Given the description of an element on the screen output the (x, y) to click on. 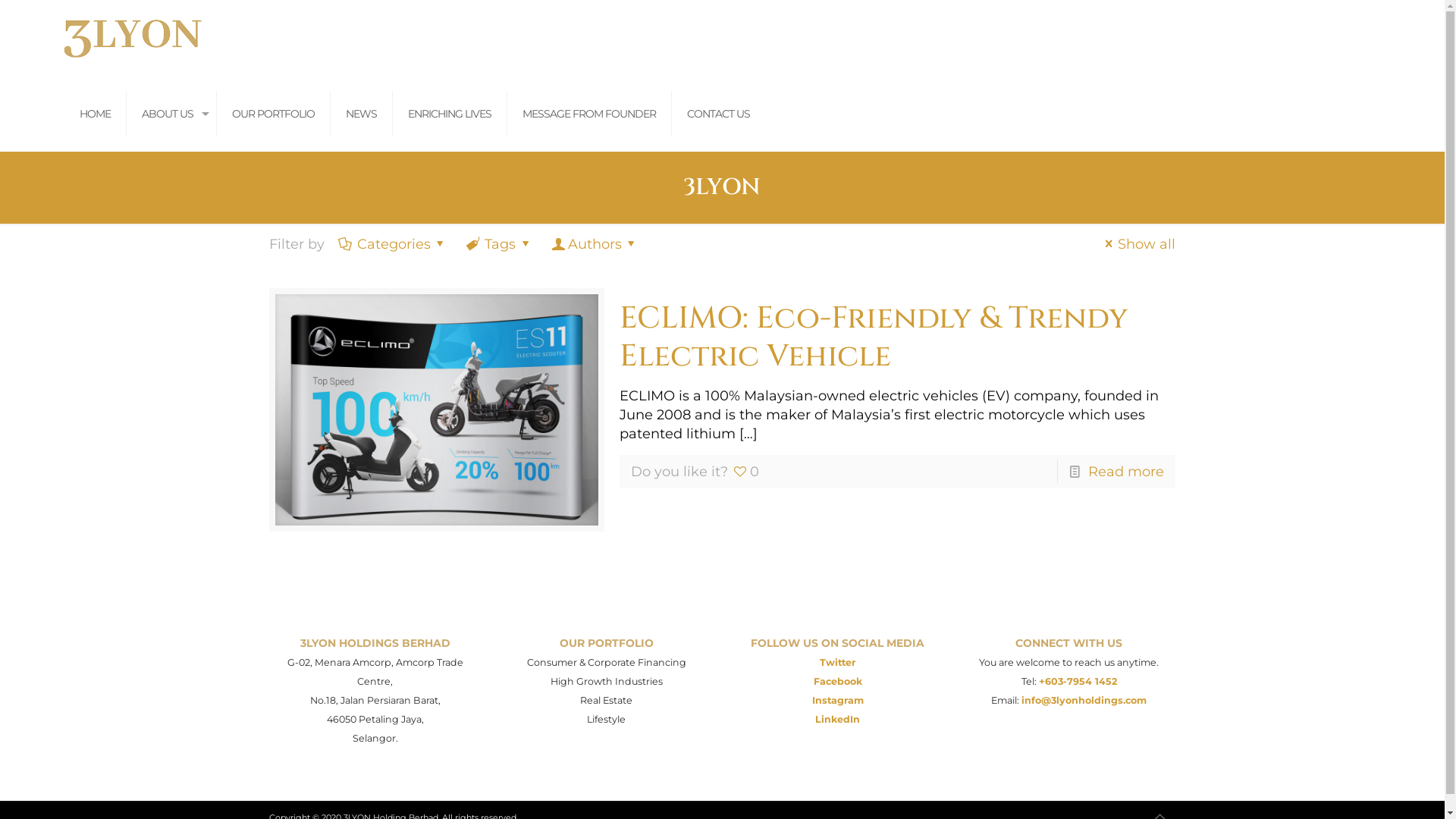
HOME Element type: text (95, 113)
info@3lyonholdings.com Element type: text (1083, 700)
MESSAGE FROM FOUNDER Element type: text (589, 113)
Real Estate Element type: text (606, 700)
Instagram Element type: text (837, 700)
ENRICHING LIVES Element type: text (449, 113)
Show all Element type: text (1136, 243)
Lifestyle Element type: text (605, 718)
Consumer & Corporate Financing Element type: text (606, 662)
+603-7954 1452 Element type: text (1077, 681)
OUR PORTFOLIO Element type: text (273, 113)
ABOUT US Element type: text (171, 113)
Categories Element type: text (393, 243)
Authors Element type: text (594, 243)
High Growth Industries Element type: text (606, 681)
Read more Element type: text (1126, 471)
Twitter Element type: text (837, 662)
LinkedIn Element type: text (837, 718)
CONTACT US Element type: text (718, 113)
ECLIMO: Eco-Friendly & Trendy Electric Vehicle Element type: text (873, 337)
NEWS Element type: text (361, 113)
0 Element type: text (745, 471)
Tags Element type: text (499, 243)
Facebook Element type: text (837, 681)
